Given the description of an element on the screen output the (x, y) to click on. 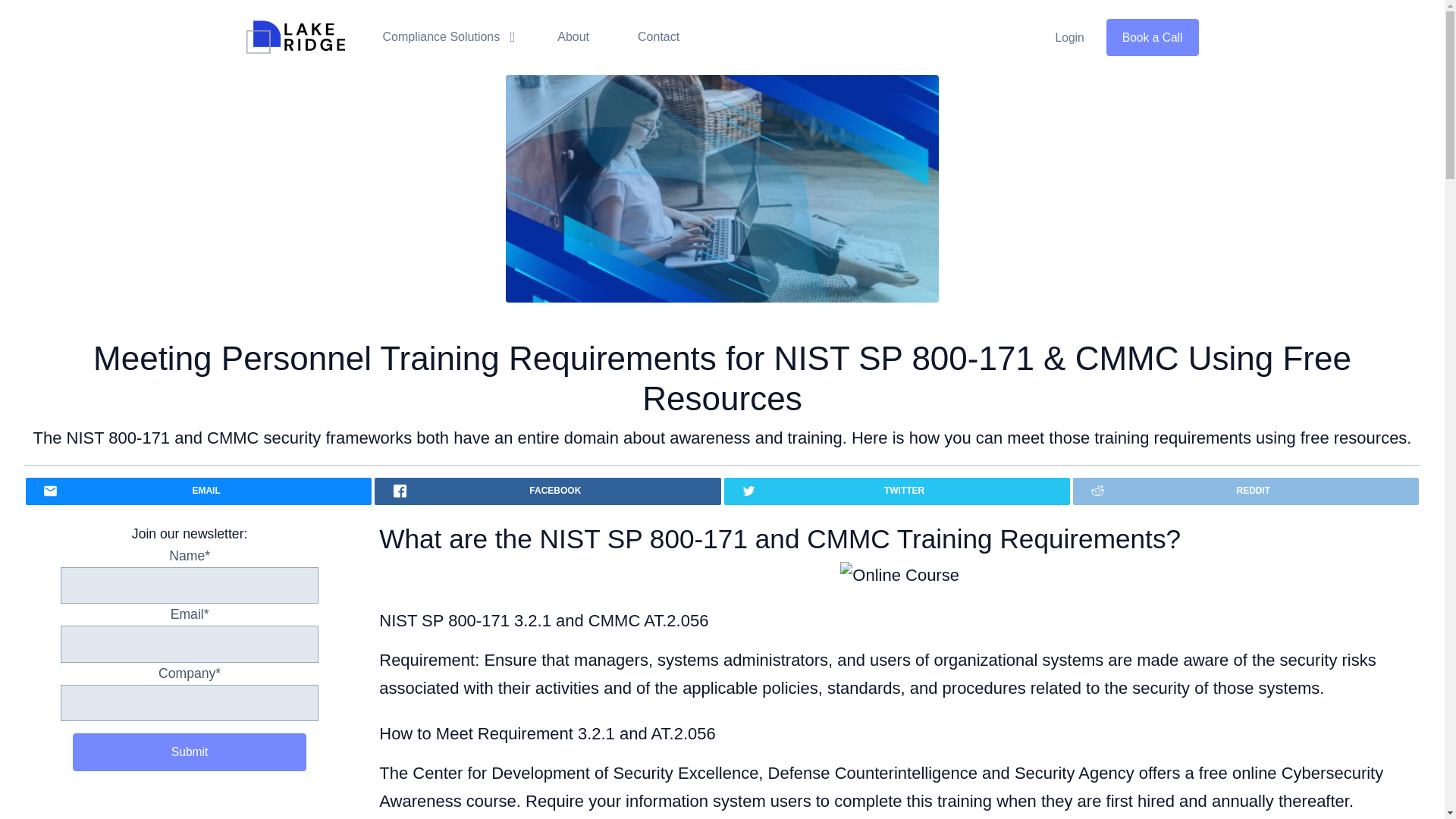
Submit (188, 752)
EMAIL (198, 491)
Compliance Solutions (445, 36)
FACEBOOK (547, 491)
Login (1069, 37)
REDDIT (1245, 491)
Book a Call (1152, 37)
Submit (188, 752)
TWITTER (895, 491)
